Given the description of an element on the screen output the (x, y) to click on. 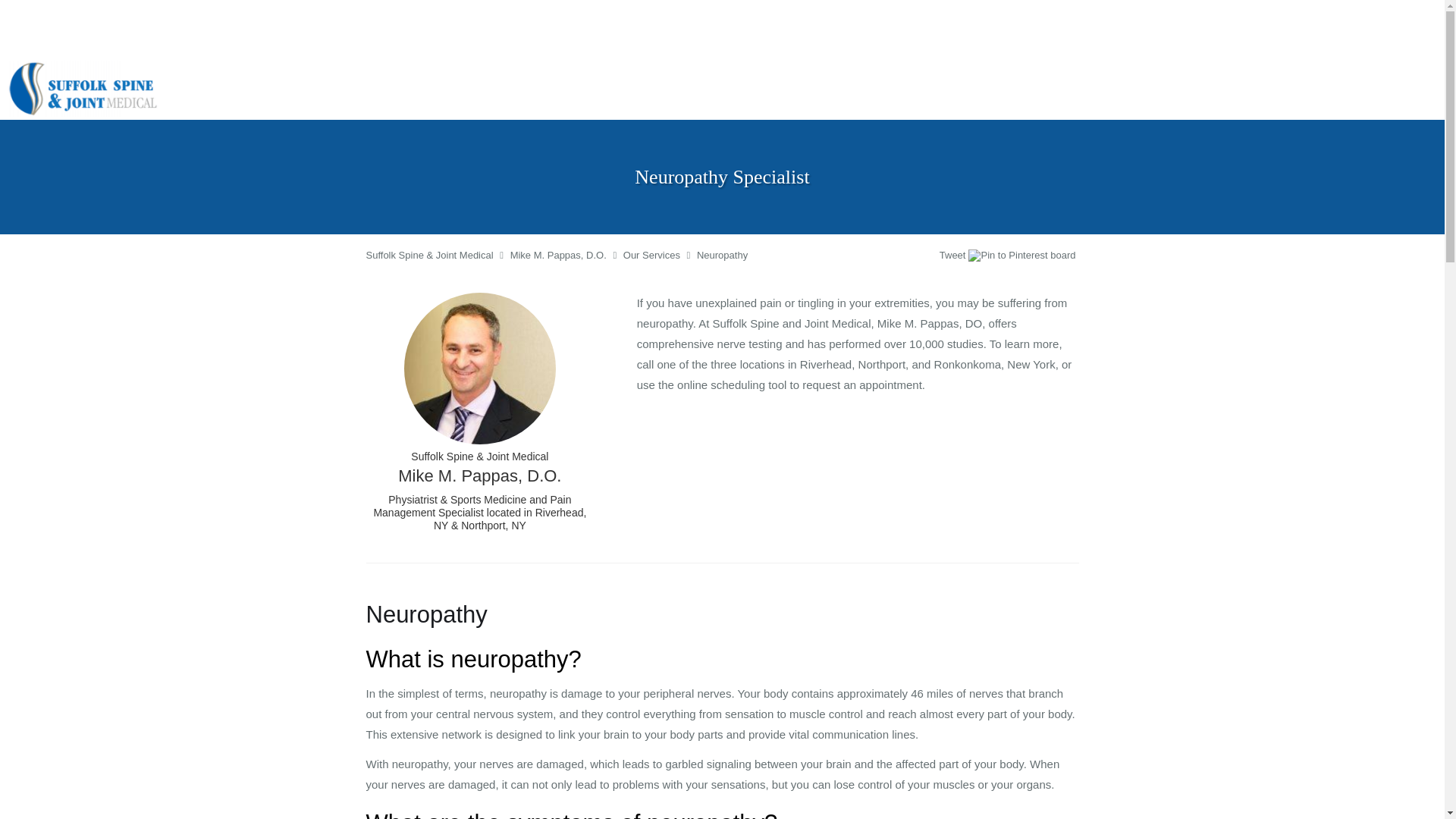
Facebook social button (880, 257)
Mike M. Pappas, D.O. (559, 255)
Skip to main content (74, 66)
Our Services (651, 255)
Neuropathy (722, 255)
